Given the description of an element on the screen output the (x, y) to click on. 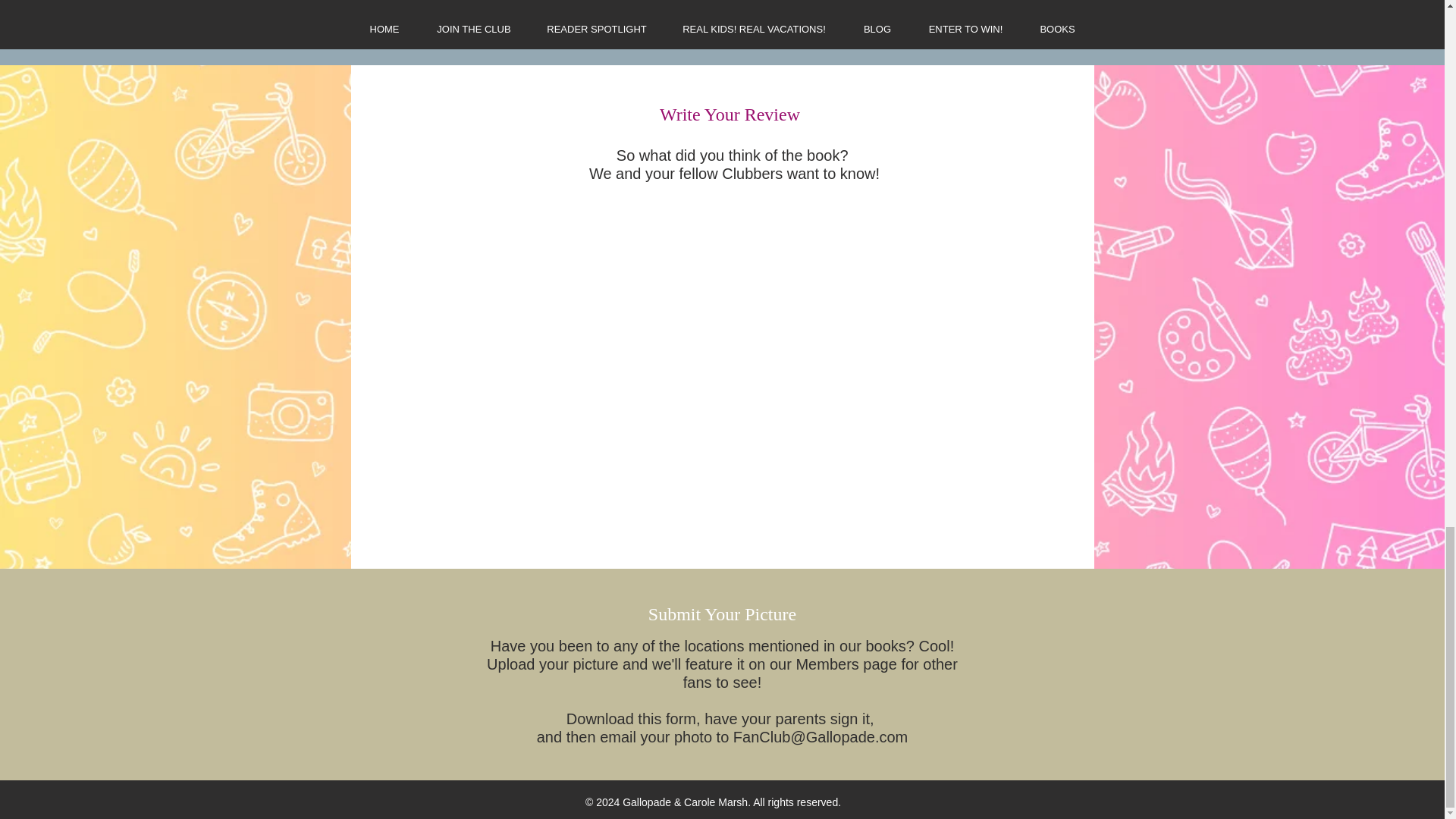
Print the Activities (954, 20)
Print the Discussion (721, 20)
Print the Quiz (493, 20)
